Given the description of an element on the screen output the (x, y) to click on. 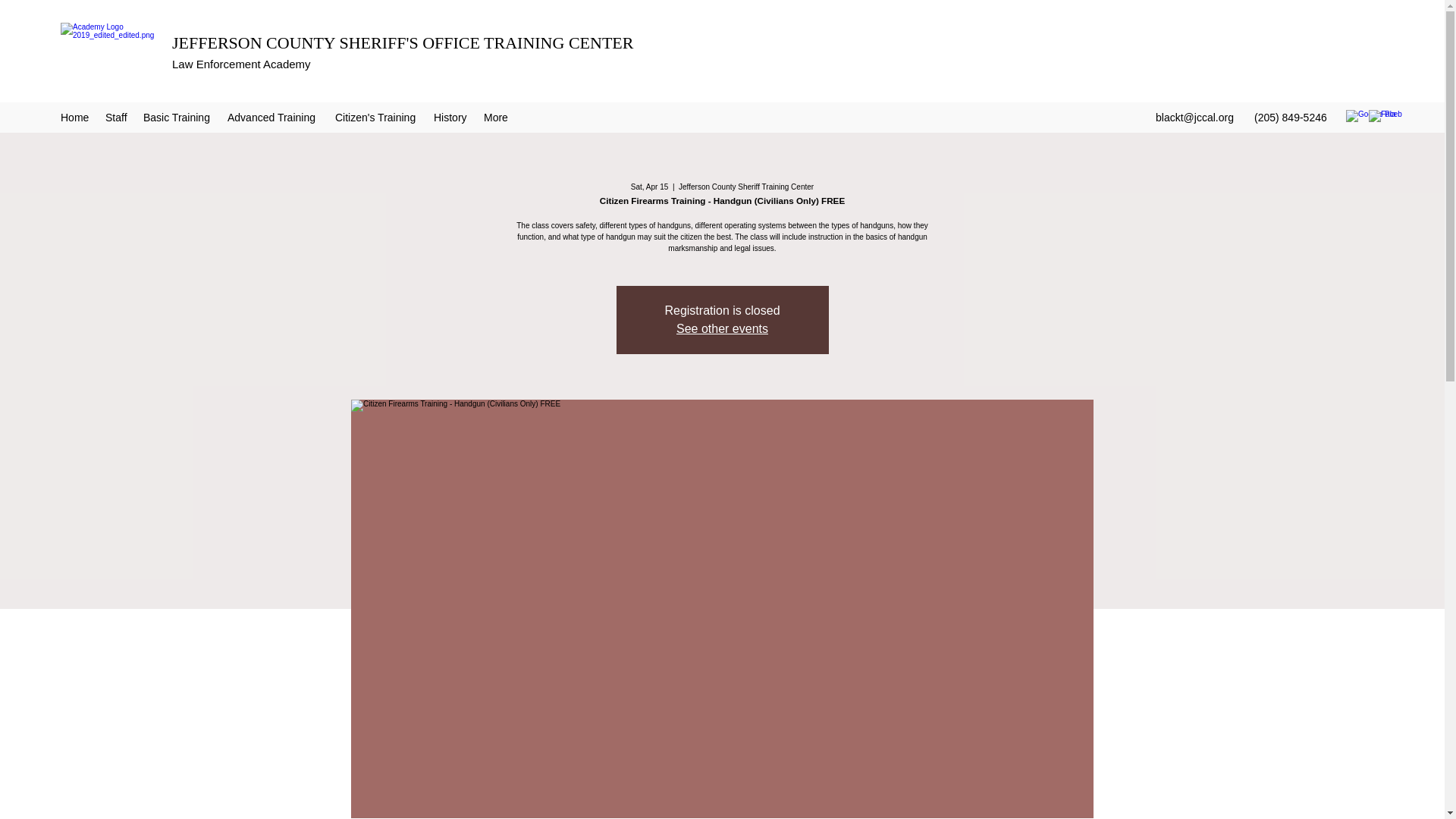
Home (74, 117)
See other events (722, 328)
JEFFERSON COUNTY SHERIFF'S OFFICE TRAINING CENTER (402, 42)
Citizen's Training (376, 117)
Basic Training (177, 117)
Staff (116, 117)
Advanced Training (273, 117)
History (451, 117)
